Given the description of an element on the screen output the (x, y) to click on. 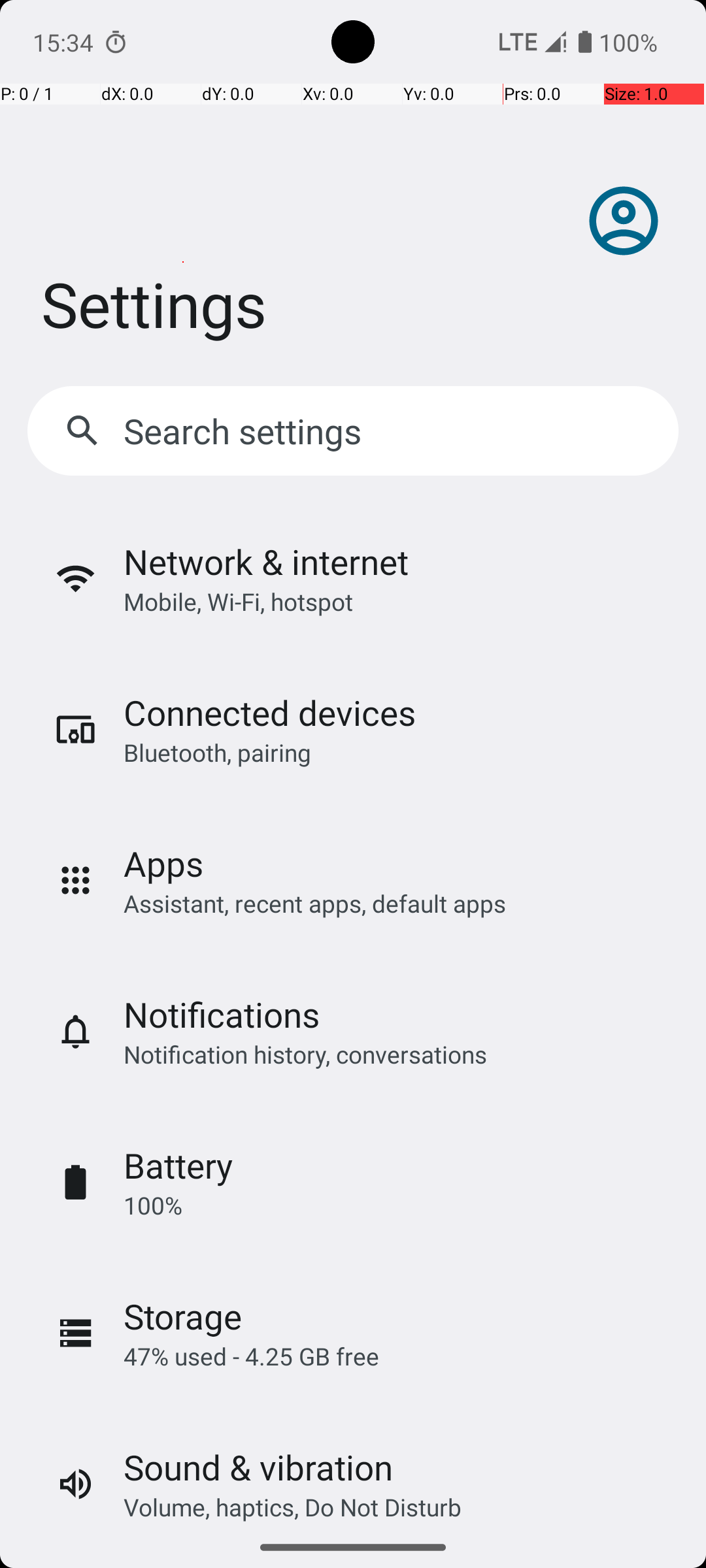
47% used - 4.25 GB free Element type: android.widget.TextView (251, 1355)
